Given the description of an element on the screen output the (x, y) to click on. 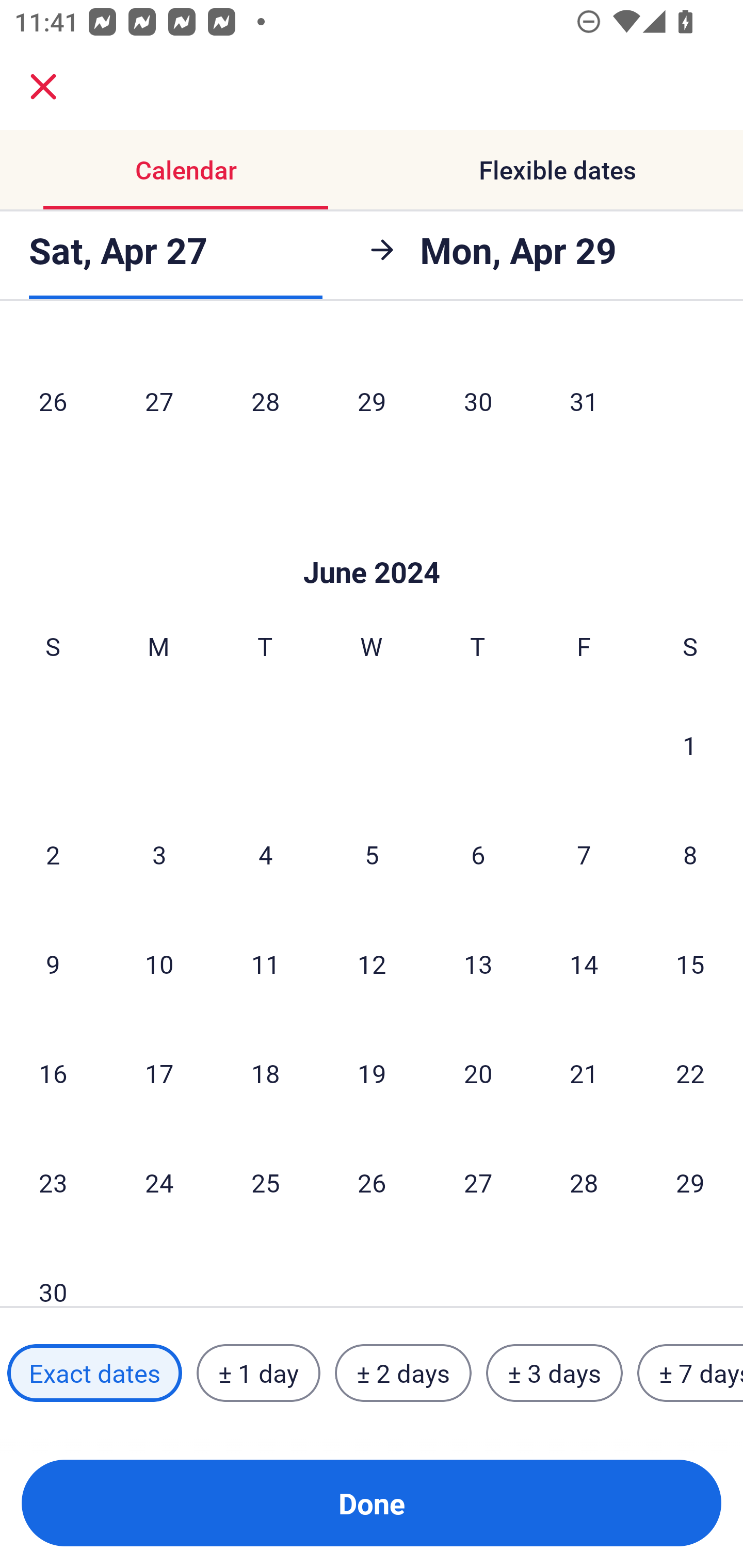
close. (43, 86)
Flexible dates (557, 170)
26 Sunday, May 26, 2024 (53, 400)
27 Monday, May 27, 2024 (159, 400)
28 Tuesday, May 28, 2024 (265, 400)
29 Wednesday, May 29, 2024 (371, 400)
30 Thursday, May 30, 2024 (477, 400)
31 Friday, May 31, 2024 (584, 400)
Skip to Done (371, 541)
1 Saturday, June 1, 2024 (689, 744)
2 Sunday, June 2, 2024 (53, 854)
3 Monday, June 3, 2024 (159, 854)
4 Tuesday, June 4, 2024 (265, 854)
5 Wednesday, June 5, 2024 (371, 854)
6 Thursday, June 6, 2024 (477, 854)
7 Friday, June 7, 2024 (584, 854)
8 Saturday, June 8, 2024 (690, 854)
9 Sunday, June 9, 2024 (53, 963)
10 Monday, June 10, 2024 (159, 963)
11 Tuesday, June 11, 2024 (265, 963)
12 Wednesday, June 12, 2024 (371, 963)
13 Thursday, June 13, 2024 (477, 963)
14 Friday, June 14, 2024 (584, 963)
15 Saturday, June 15, 2024 (690, 963)
16 Sunday, June 16, 2024 (53, 1072)
17 Monday, June 17, 2024 (159, 1072)
18 Tuesday, June 18, 2024 (265, 1072)
19 Wednesday, June 19, 2024 (371, 1072)
20 Thursday, June 20, 2024 (477, 1072)
21 Friday, June 21, 2024 (584, 1072)
22 Saturday, June 22, 2024 (690, 1072)
23 Sunday, June 23, 2024 (53, 1181)
24 Monday, June 24, 2024 (159, 1181)
25 Tuesday, June 25, 2024 (265, 1181)
26 Wednesday, June 26, 2024 (371, 1181)
27 Thursday, June 27, 2024 (477, 1181)
28 Friday, June 28, 2024 (584, 1181)
29 Saturday, June 29, 2024 (690, 1181)
30 Sunday, June 30, 2024 (53, 1272)
Exact dates (94, 1372)
± 1 day (258, 1372)
± 2 days (403, 1372)
± 3 days (553, 1372)
± 7 days (690, 1372)
Done (371, 1502)
